Given the description of an element on the screen output the (x, y) to click on. 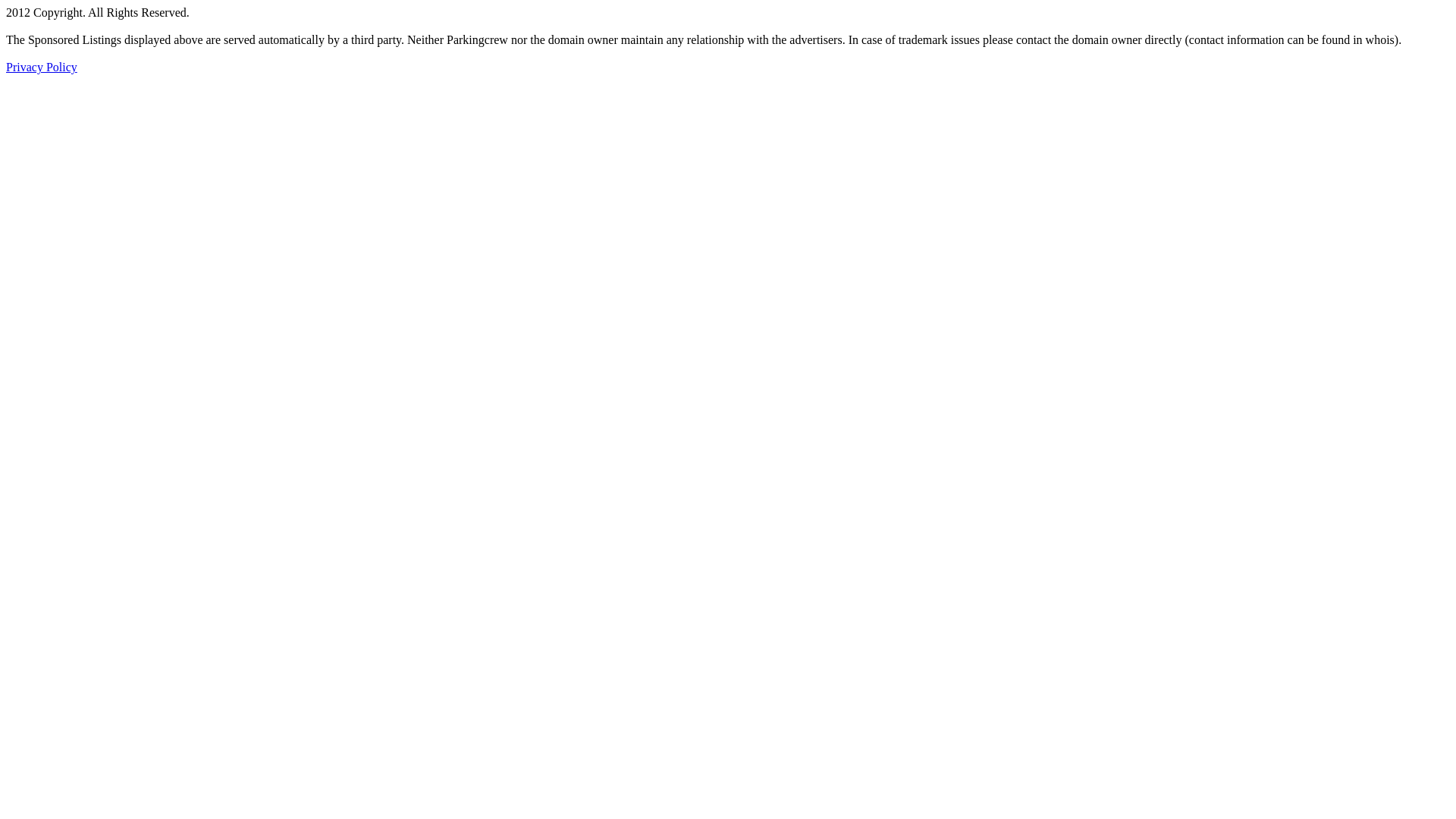
Privacy Policy Element type: text (41, 66)
